Given the description of an element on the screen output the (x, y) to click on. 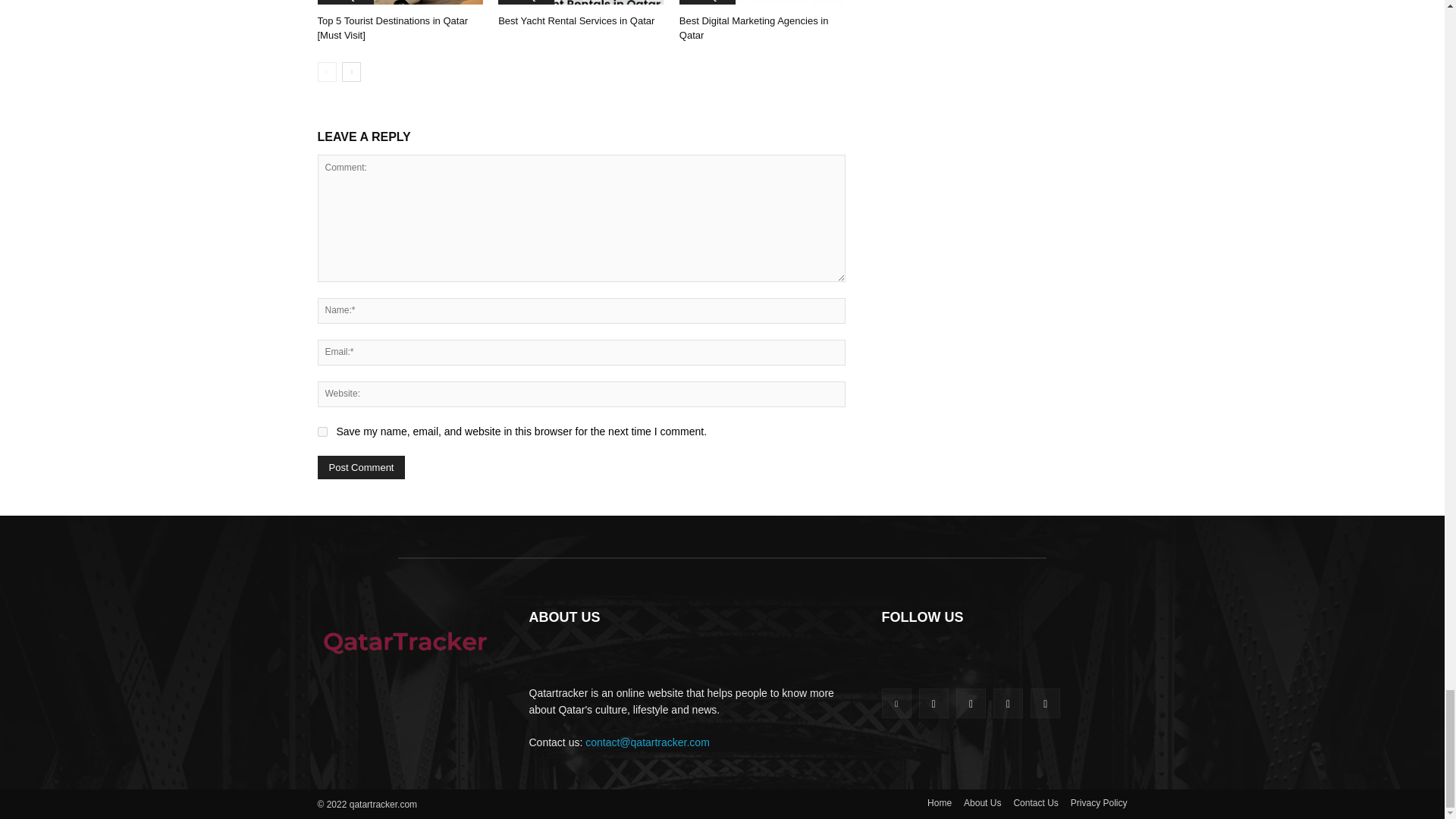
yes (321, 431)
Post Comment (360, 467)
